Given the description of an element on the screen output the (x, y) to click on. 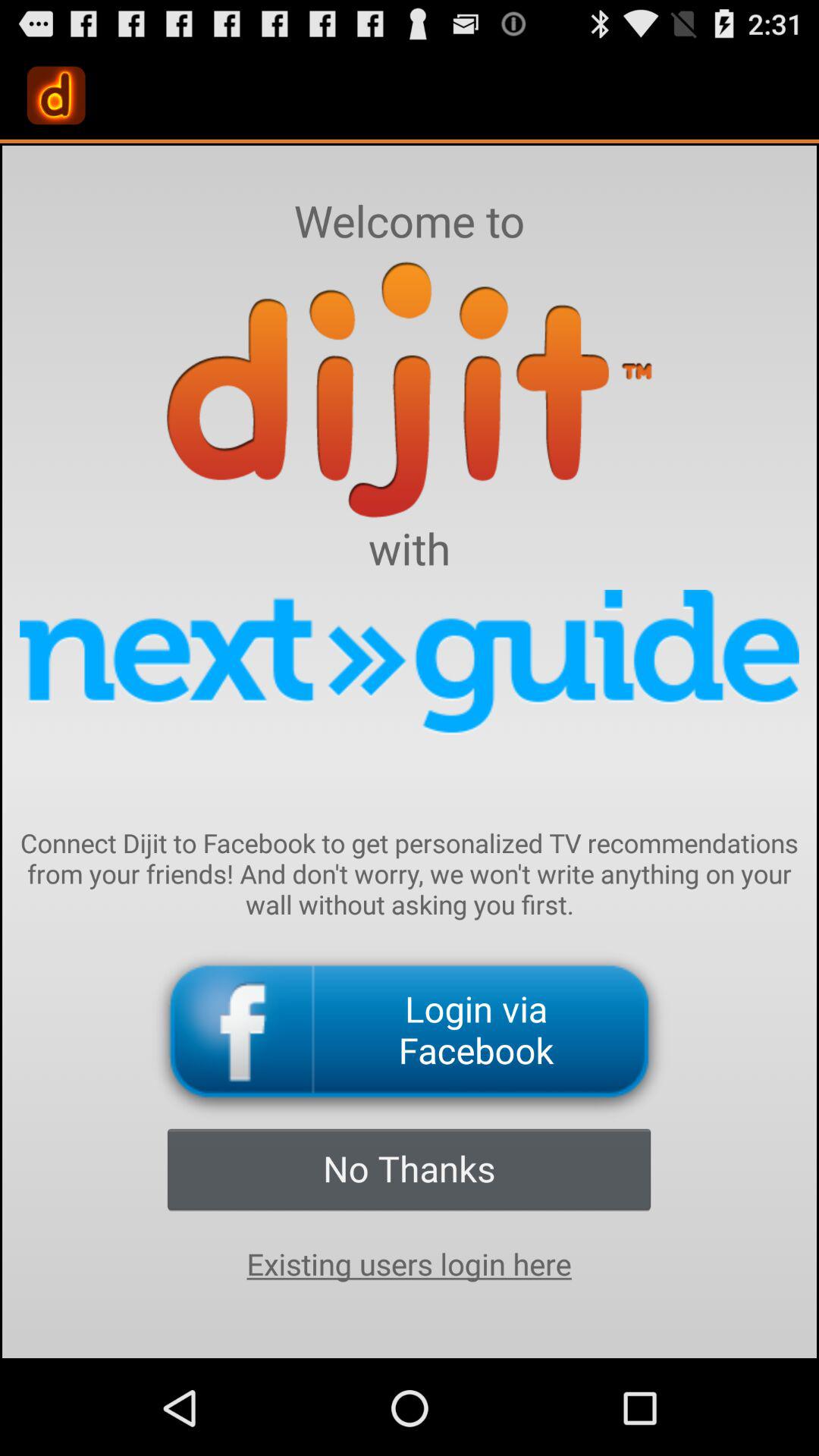
turn off the icon below no thanks button (409, 1264)
